Given the description of an element on the screen output the (x, y) to click on. 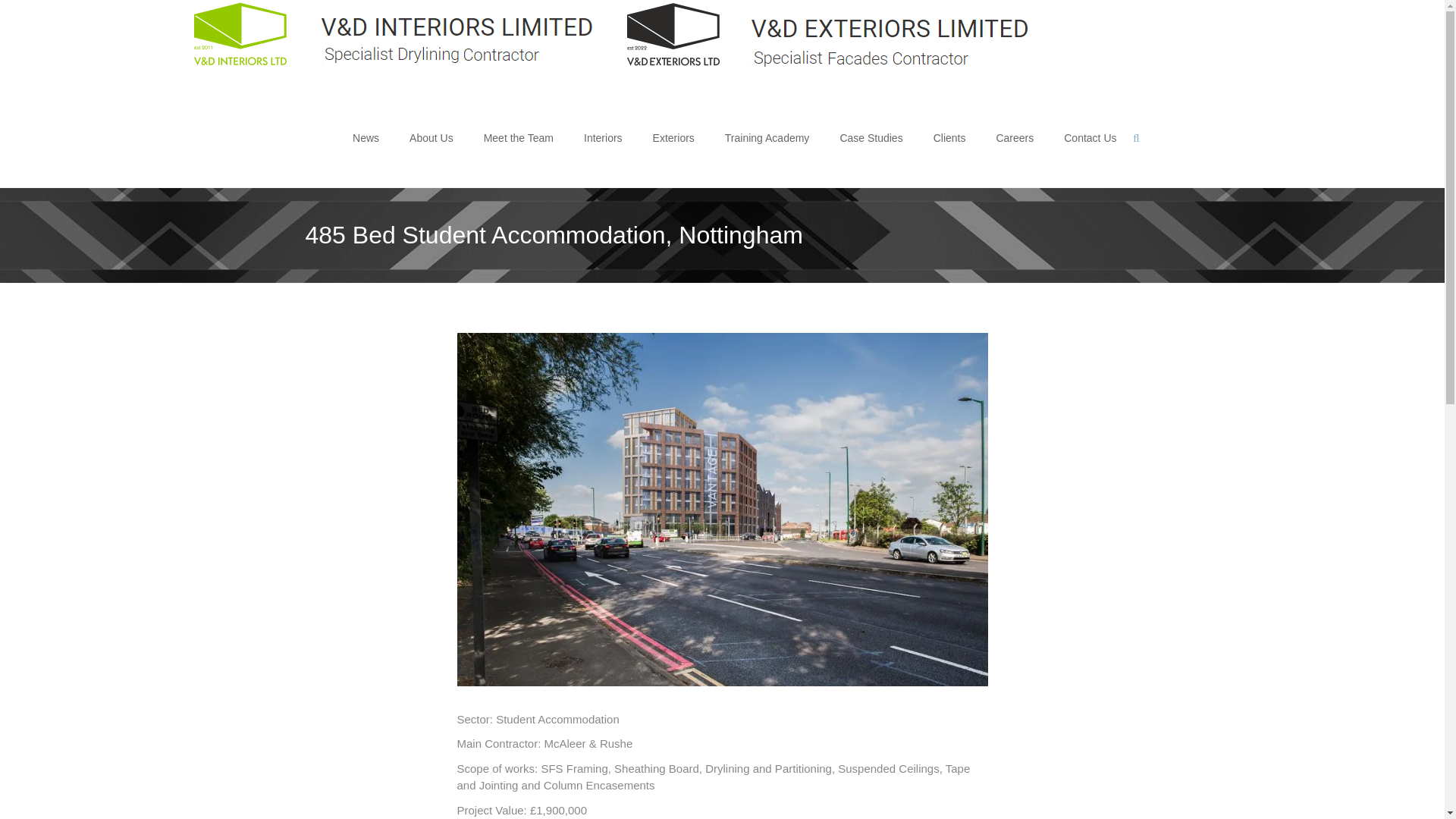
Meet the Team (518, 137)
Contact Us (1090, 137)
Case Studies (871, 137)
Training Academy (767, 137)
